Given the description of an element on the screen output the (x, y) to click on. 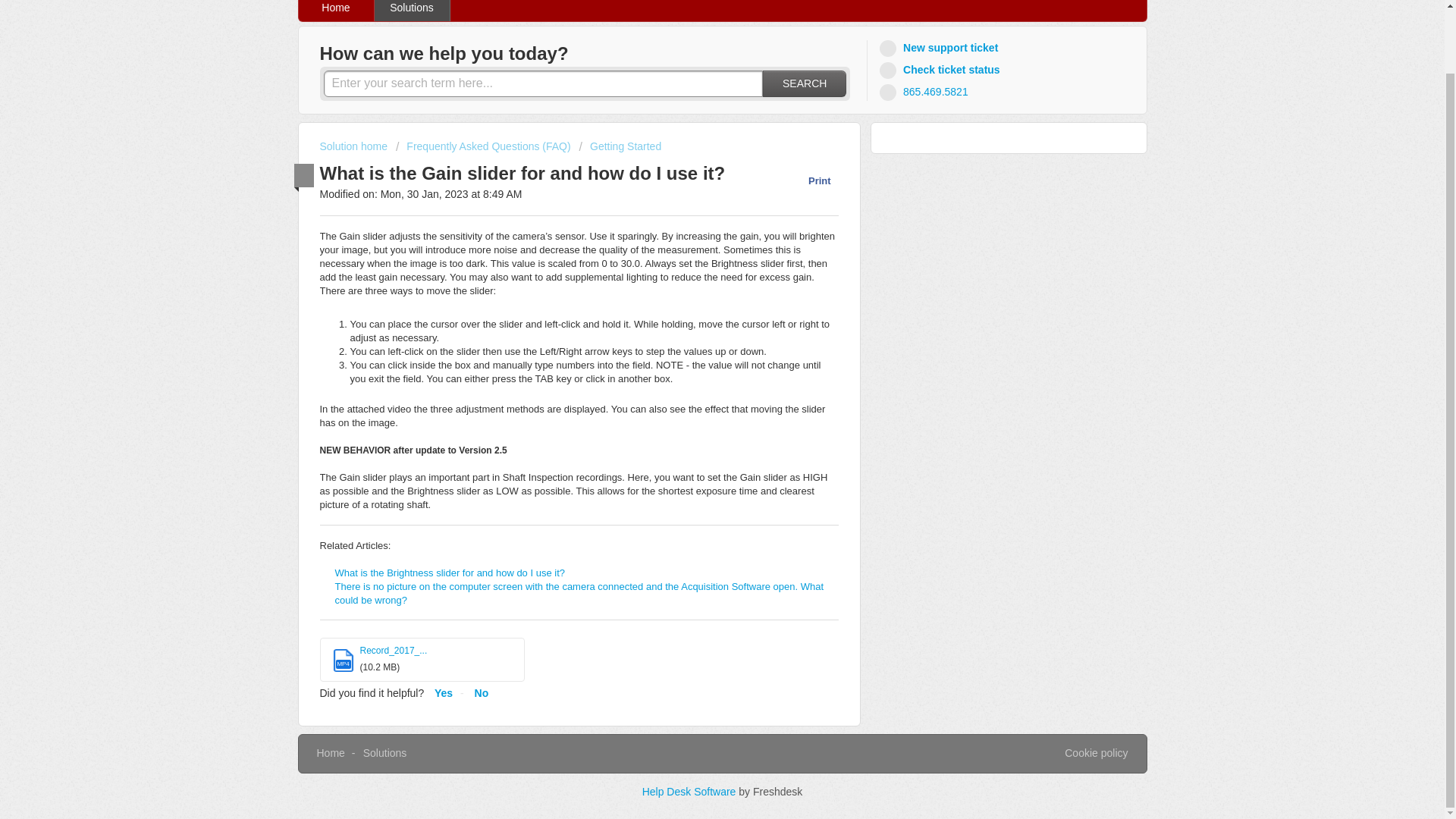
Solution home (355, 146)
Home (336, 10)
What is the Brightness slider for and how do I use it? (450, 572)
New support ticket (940, 47)
Solutions (384, 752)
Cookie policy (1095, 753)
Print (812, 180)
Solutions (411, 10)
Help Desk Software (690, 791)
New support ticket (940, 47)
